Given the description of an element on the screen output the (x, y) to click on. 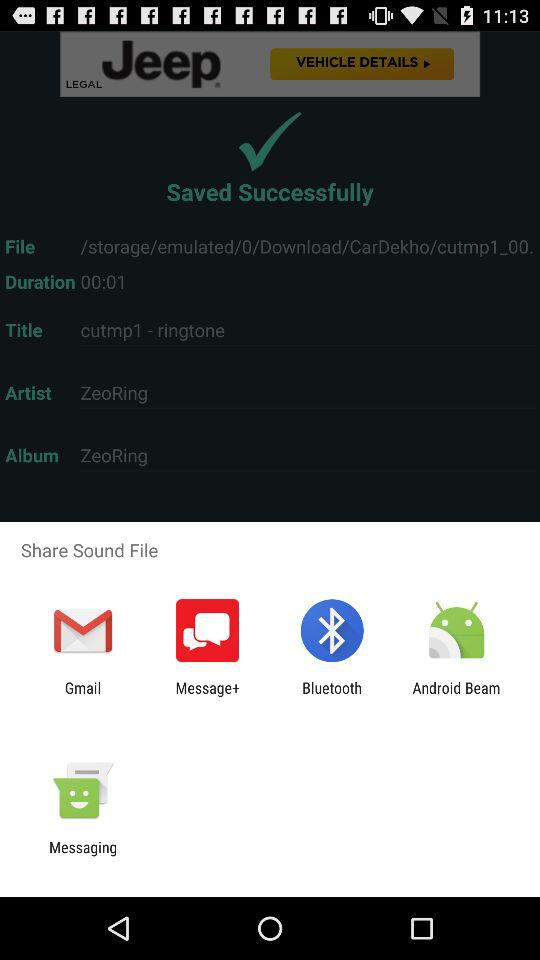
select the item to the left of android beam app (331, 696)
